Given the description of an element on the screen output the (x, y) to click on. 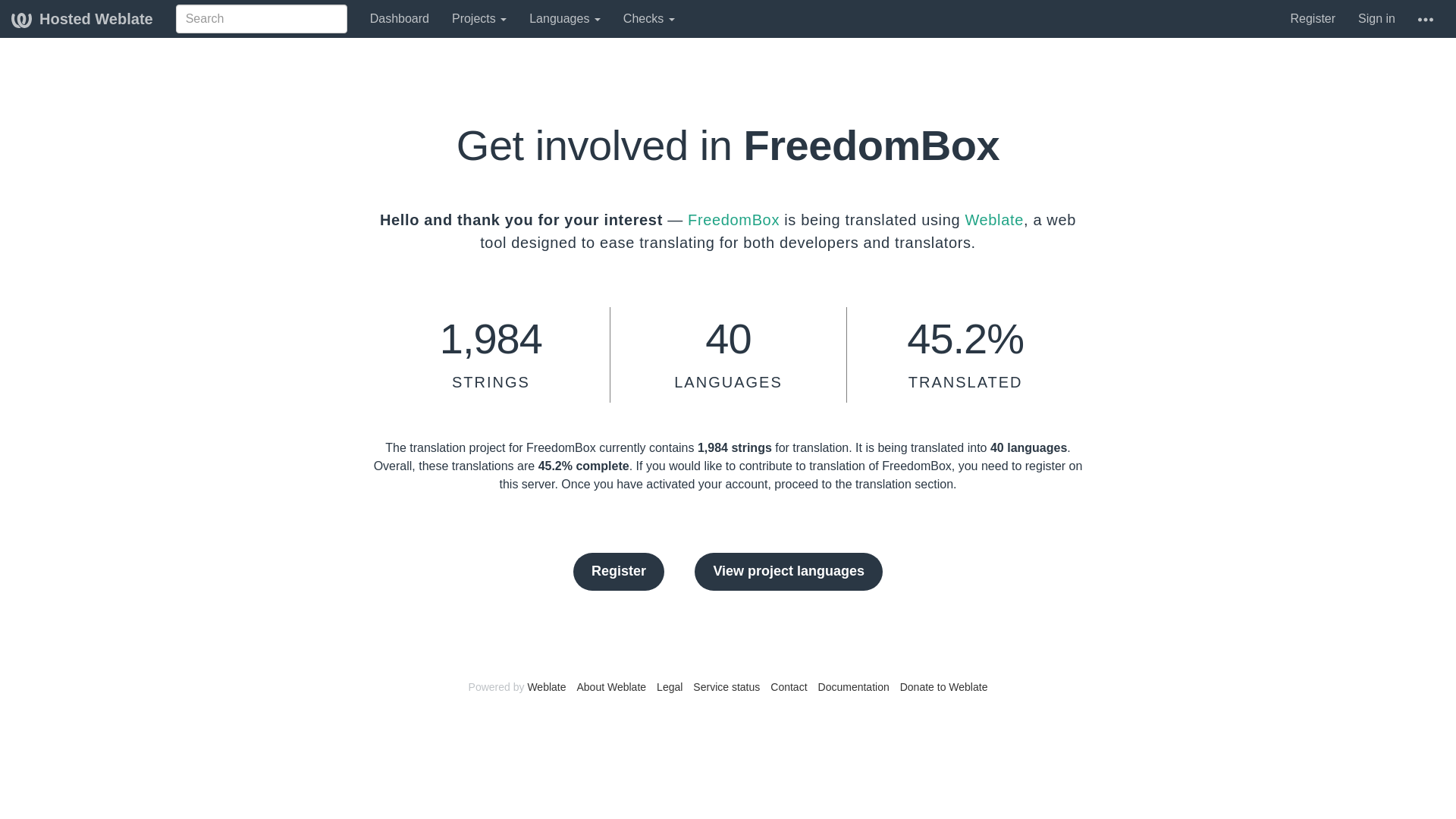
Contact (788, 686)
Donate to Weblate (943, 686)
Languages (564, 18)
Checks (648, 18)
Legal (669, 686)
Register (1312, 18)
Sign in (1376, 18)
Documentation (853, 686)
Help (1425, 18)
Weblate (993, 219)
